Given the description of an element on the screen output the (x, y) to click on. 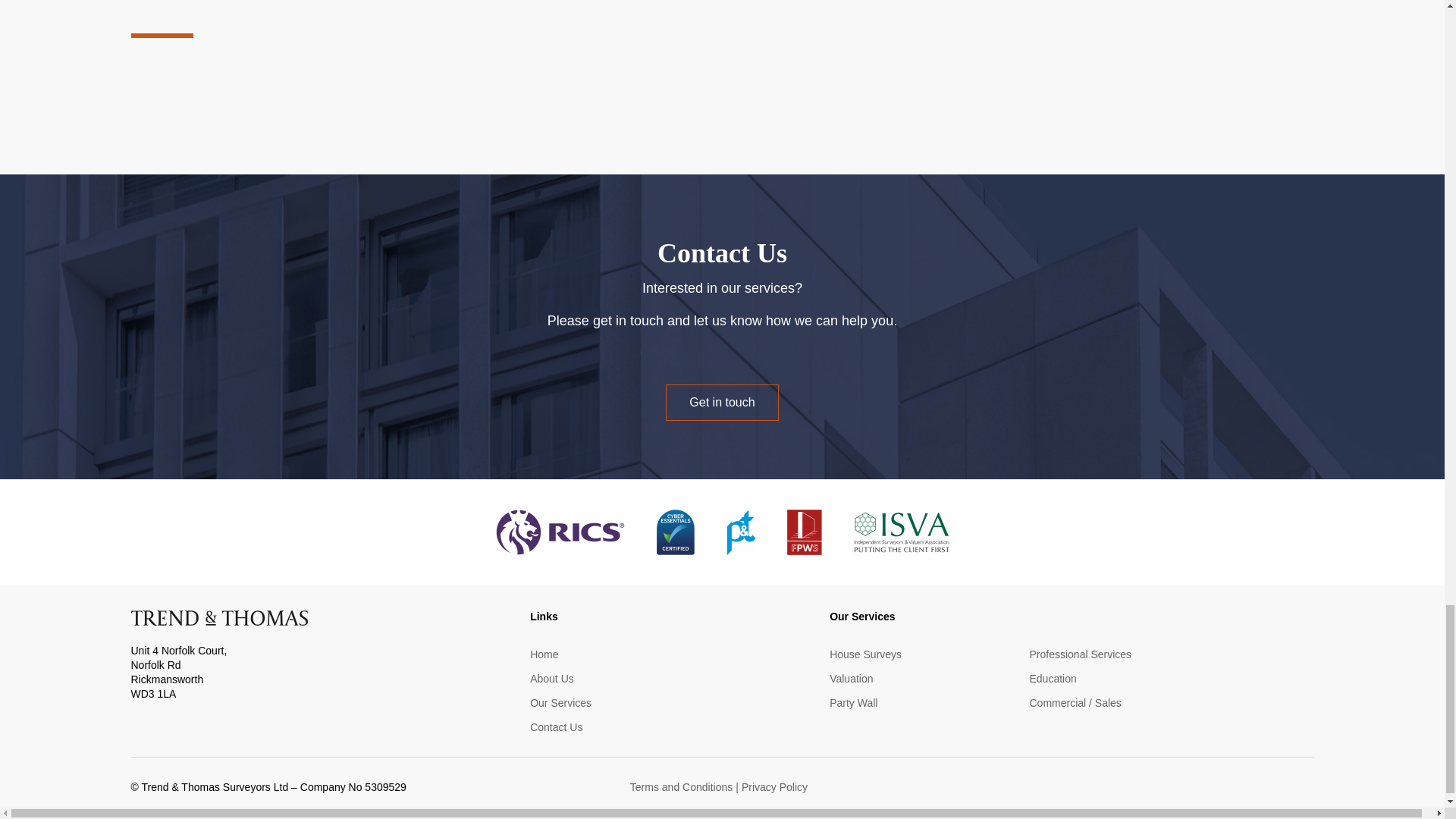
Home (543, 654)
Party Wall (853, 703)
Contact Us (555, 727)
Valuation (850, 678)
House Surveys (865, 654)
Our Services (560, 703)
About Us (551, 678)
Get in touch (721, 402)
Professional Services (1080, 654)
